Given the description of an element on the screen output the (x, y) to click on. 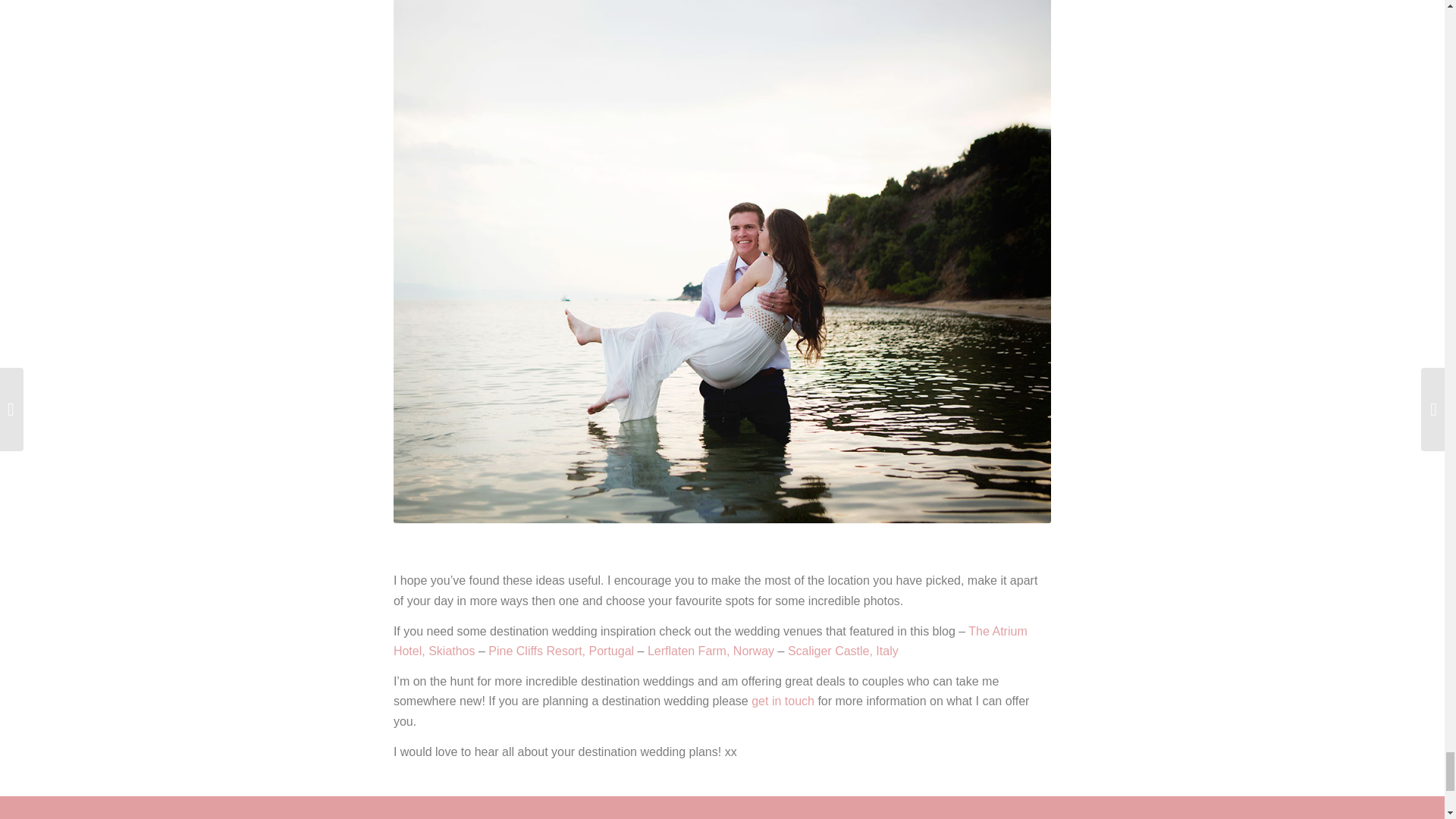
get in touch (782, 700)
The Atrium Hotel, Skiathos (710, 640)
Lerflaten Farm, Norway (710, 650)
Scaliger Castle, Italy (842, 650)
Pine Cliffs Resort, Portugal (560, 650)
